Given the description of an element on the screen output the (x, y) to click on. 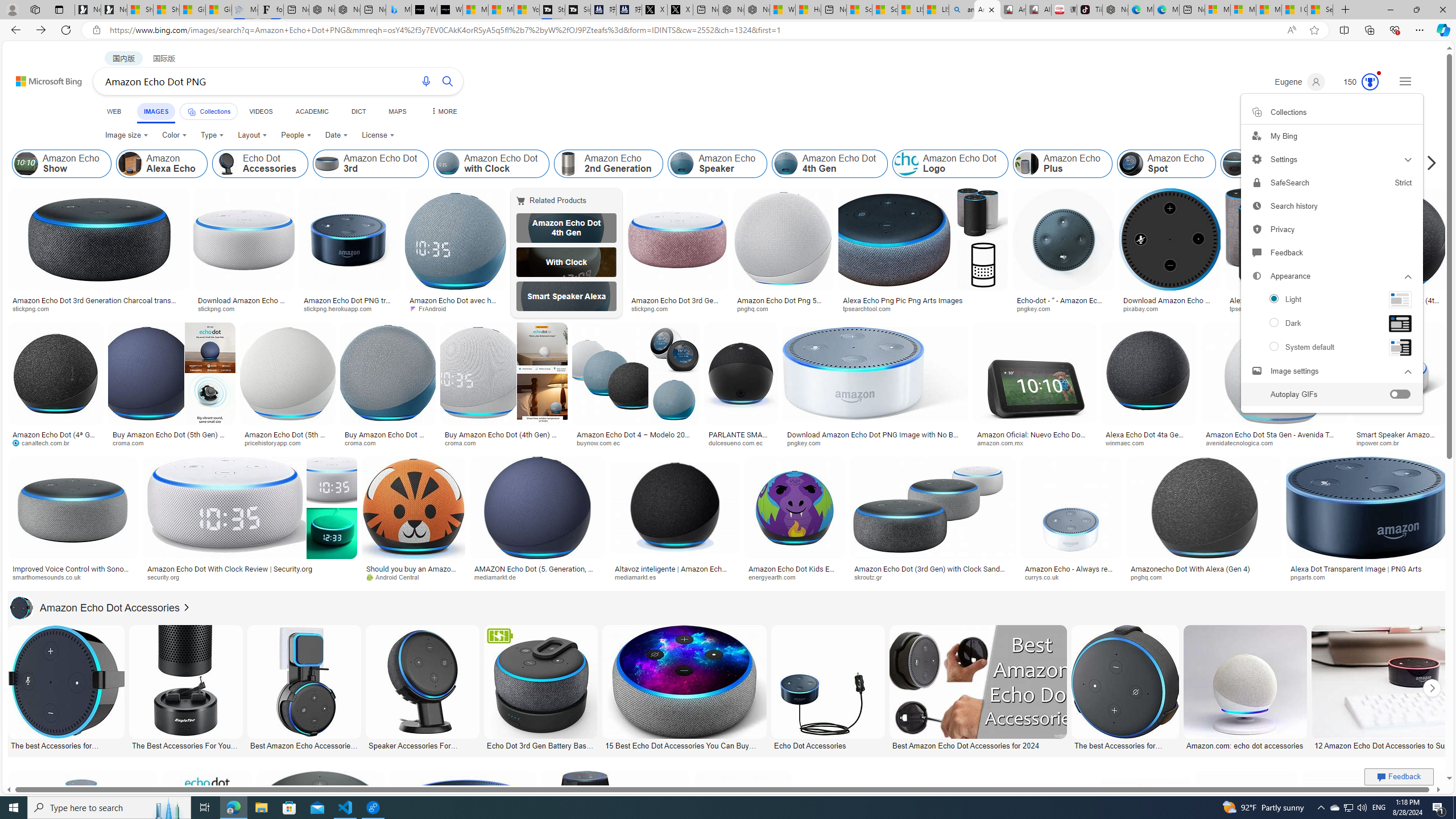
Amazon Echo Speaker (717, 163)
Amazon Alexa Echo (161, 163)
Color (173, 135)
Amazon Echo Dot Png 542 Download (783, 303)
Amazon Echo Dot Logo (949, 163)
MORE (443, 111)
mediamarkt.es (638, 576)
